Given the description of an element on the screen output the (x, y) to click on. 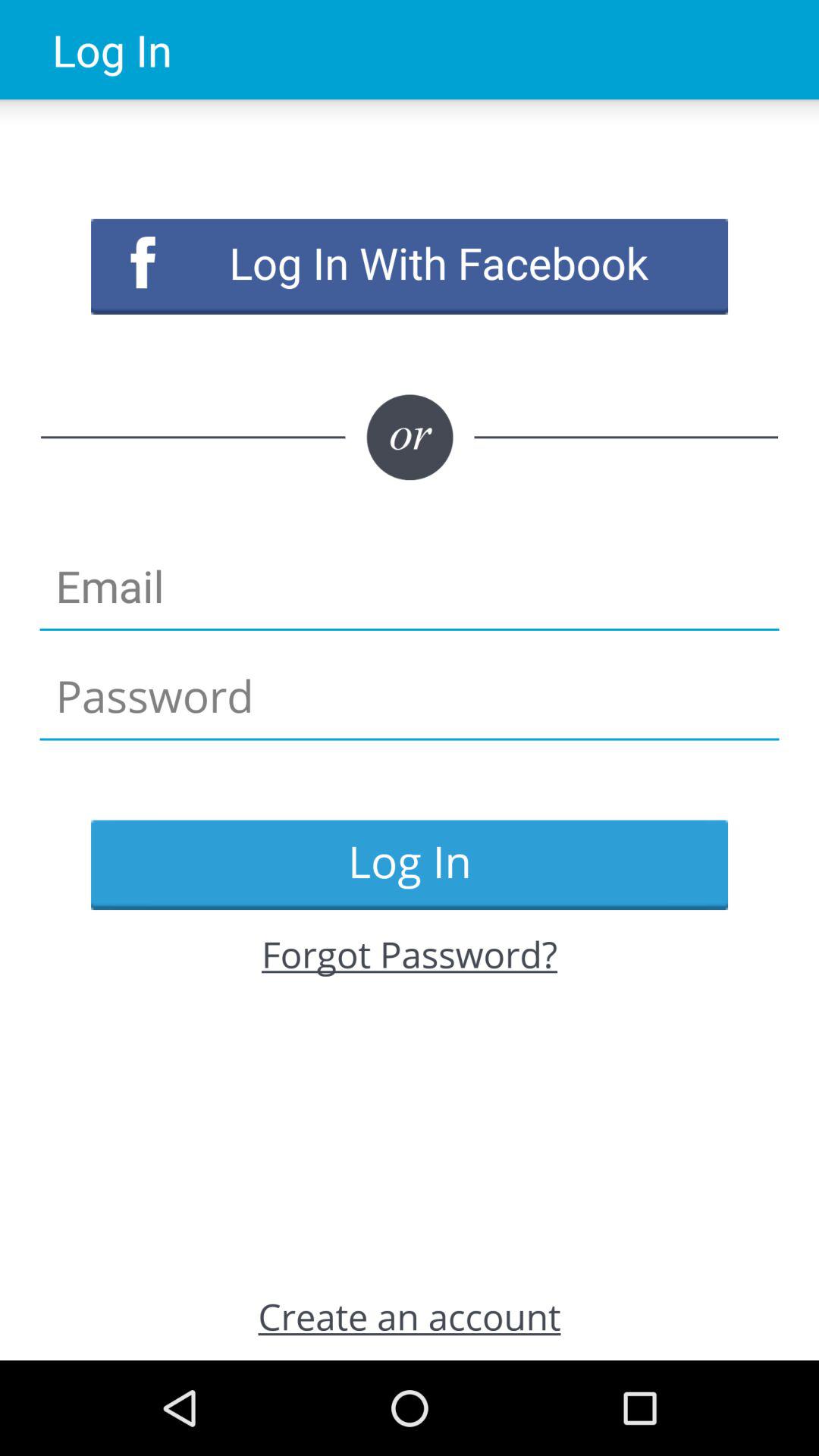
press item below forgot password? (409, 1316)
